Given the description of an element on the screen output the (x, y) to click on. 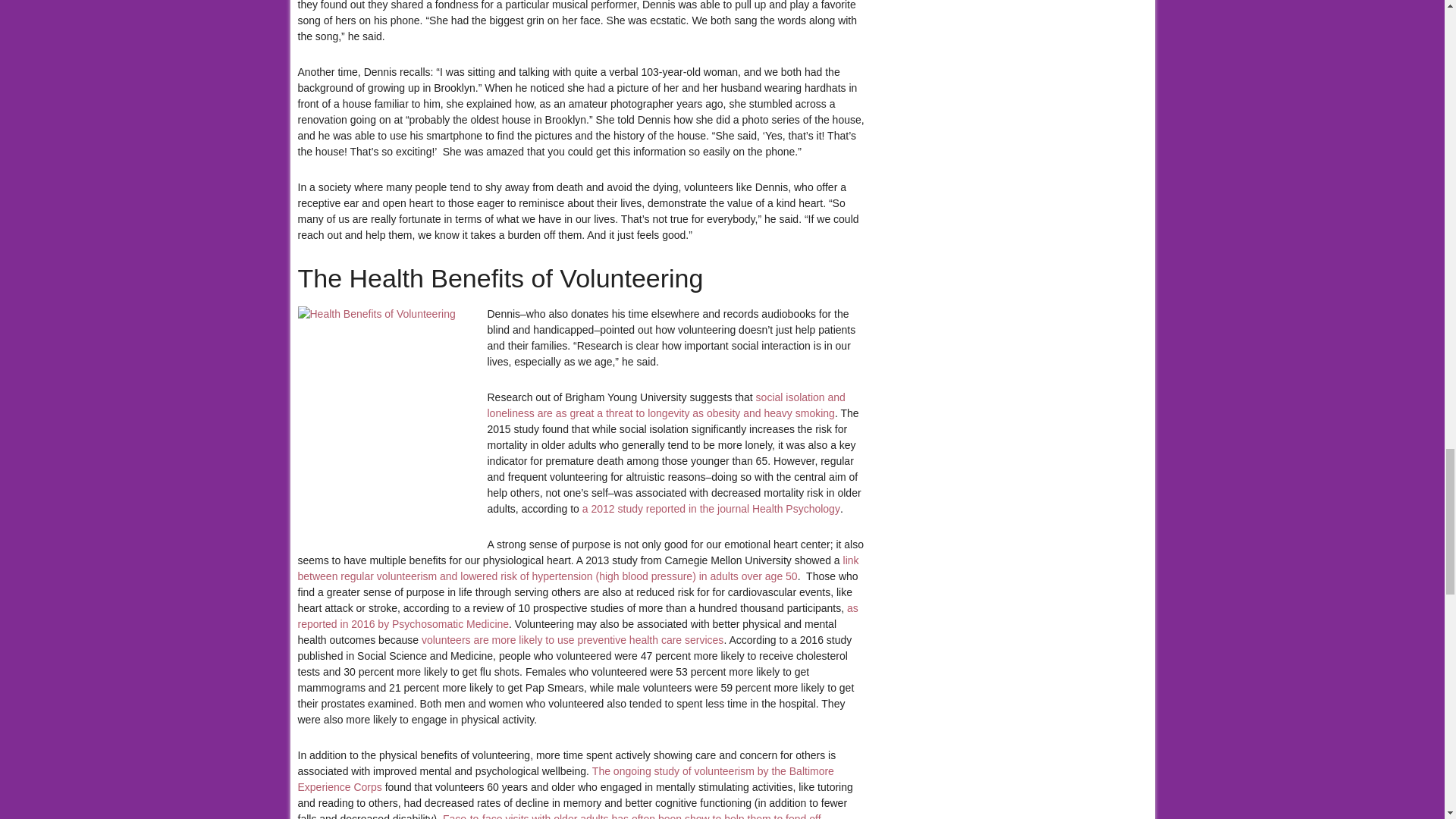
a 2012 study reported in the journal Health Psychology (711, 508)
as reported in 2016 by Psychosomatic Medicine (577, 615)
